Given the description of an element on the screen output the (x, y) to click on. 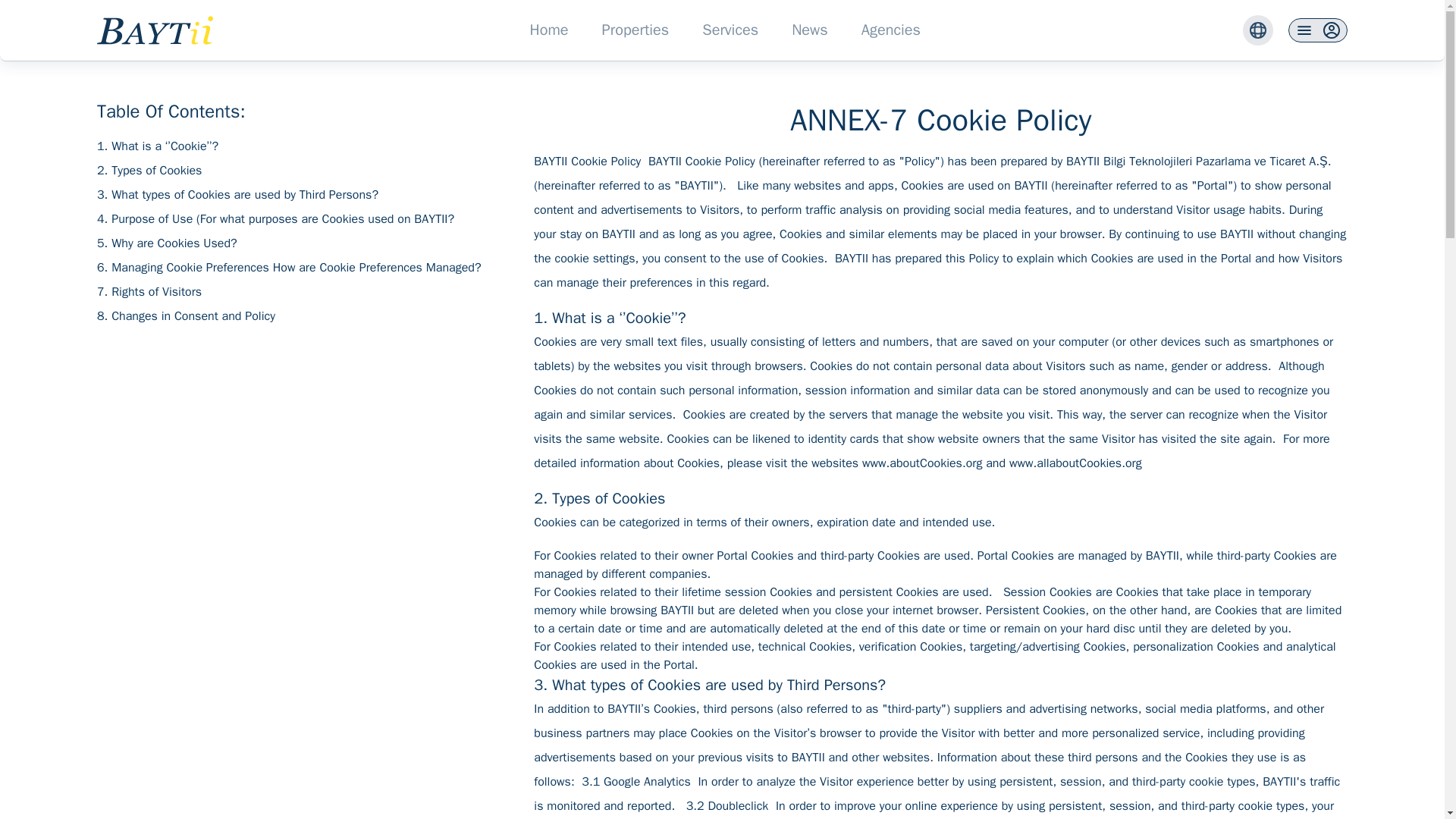
2. Types of Cookies   (153, 170)
Home (548, 29)
5. Why are Cookies Used?  (169, 242)
Agencies (890, 29)
Agencies (890, 29)
Services (729, 29)
3. What types of Cookies are used by Third Persons?  (239, 194)
